Given the description of an element on the screen output the (x, y) to click on. 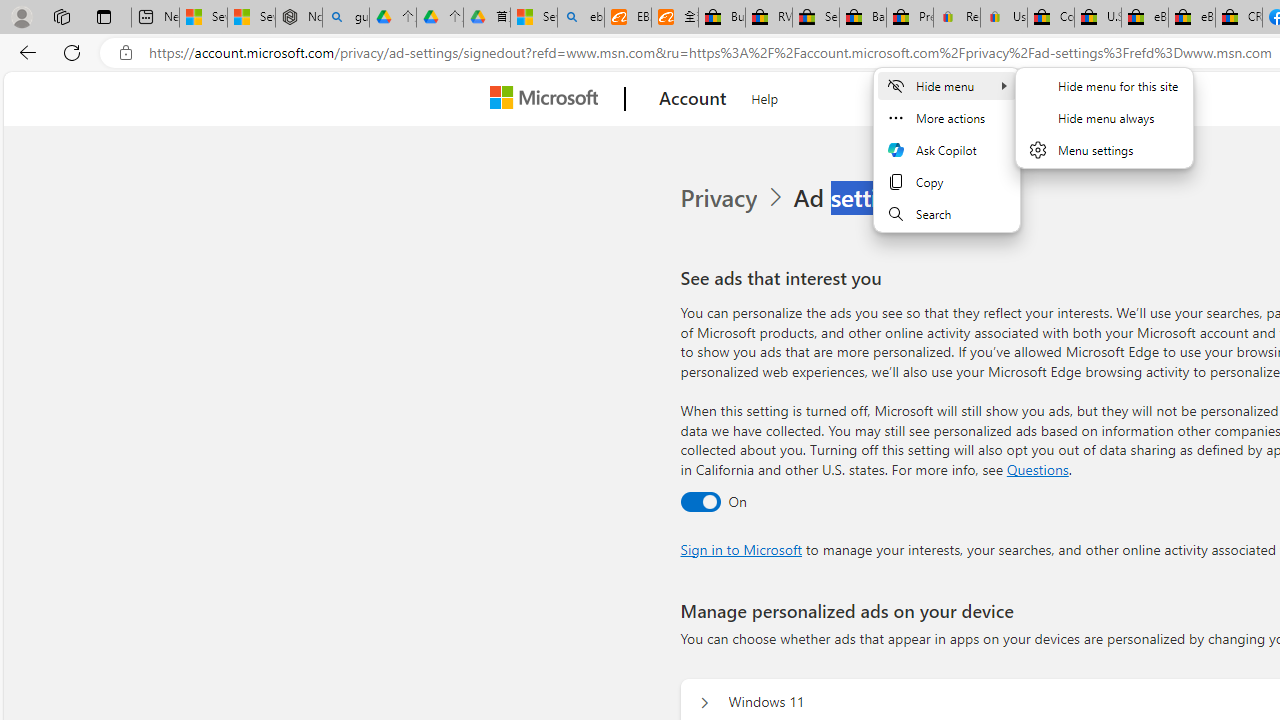
Sell worldwide with eBay (815, 17)
Help (765, 96)
Workspaces (61, 16)
Hide menu for this site (1104, 85)
Menu settings (1104, 149)
Hide menu (947, 85)
Tab actions menu (104, 16)
Mini menu on text selection (946, 161)
Search (947, 213)
Hide menu always (1104, 117)
Go to Questions section (1037, 468)
Privacy (734, 197)
Sign in to Microsoft (740, 548)
More actions (947, 117)
